Given the description of an element on the screen output the (x, y) to click on. 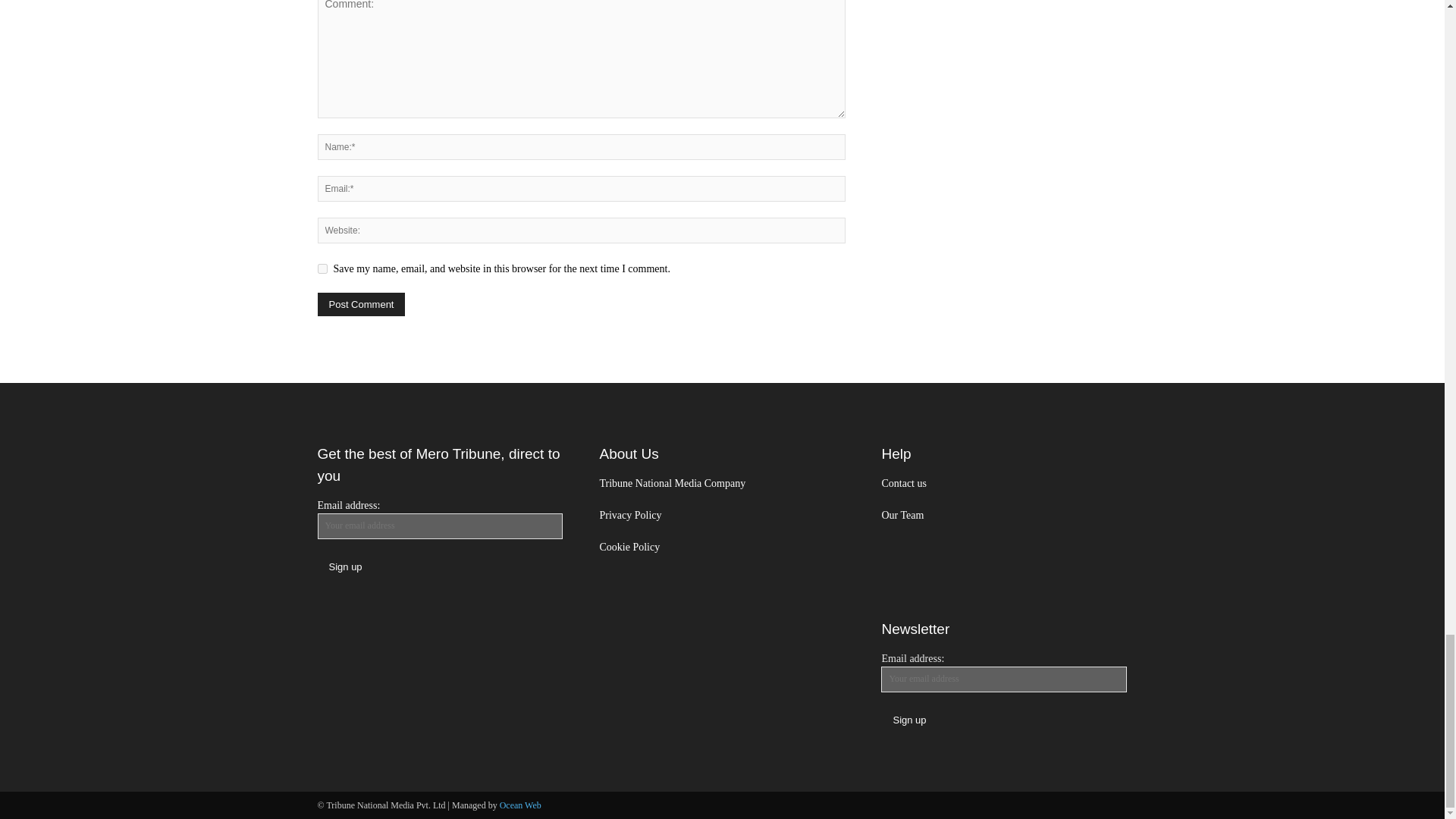
Post Comment (360, 304)
Sign up (908, 720)
Sign up (344, 566)
yes (321, 268)
